Given the description of an element on the screen output the (x, y) to click on. 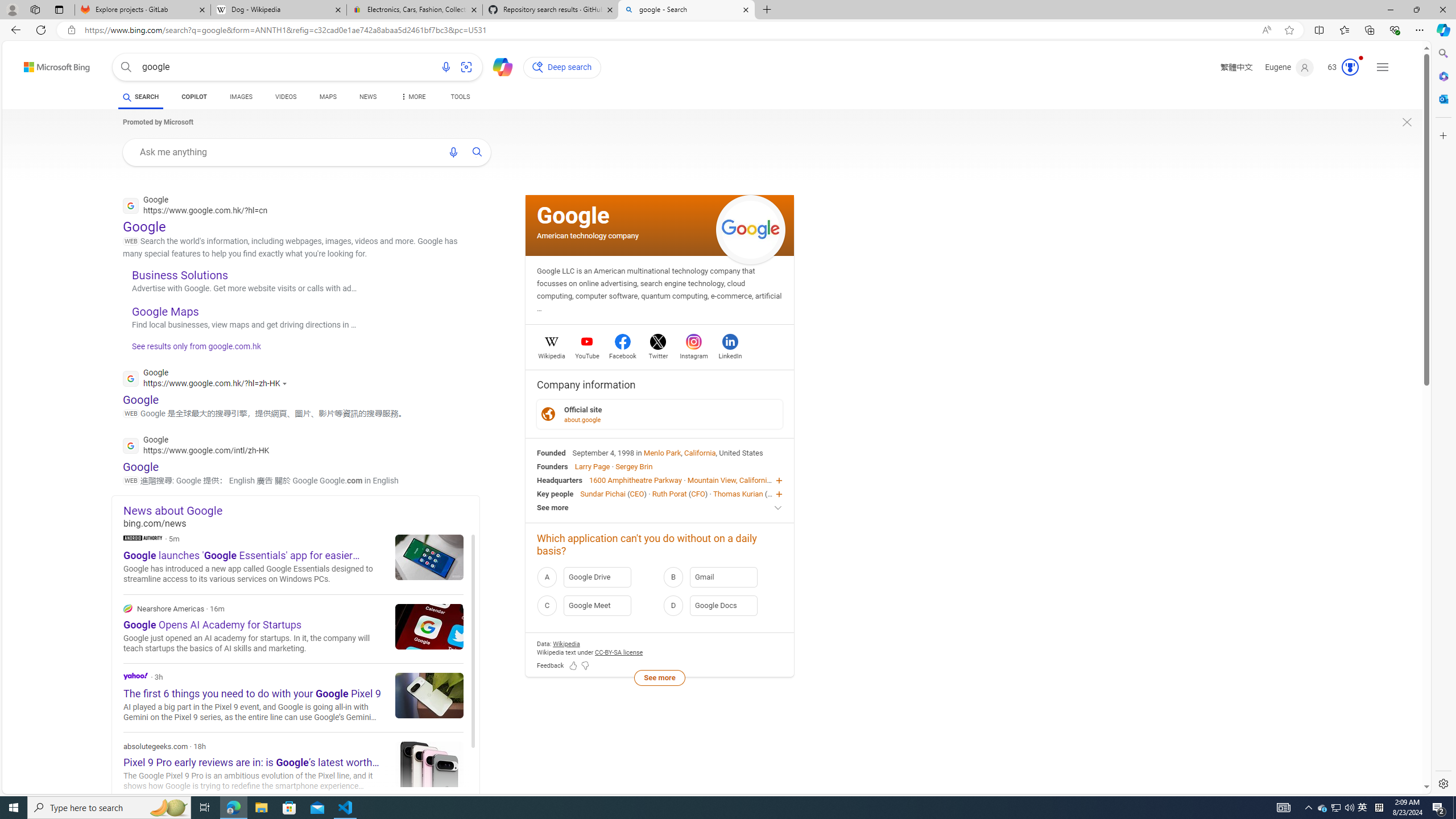
Sundar Pichai (602, 492)
LinkedIn (729, 354)
AutomationID: uaseabtn (478, 151)
Microsoft Rewards 54 (1339, 67)
MAPS (327, 96)
CEO (774, 492)
Official Site Official site about.google (659, 413)
Animation (1360, 57)
